Given the description of an element on the screen output the (x, y) to click on. 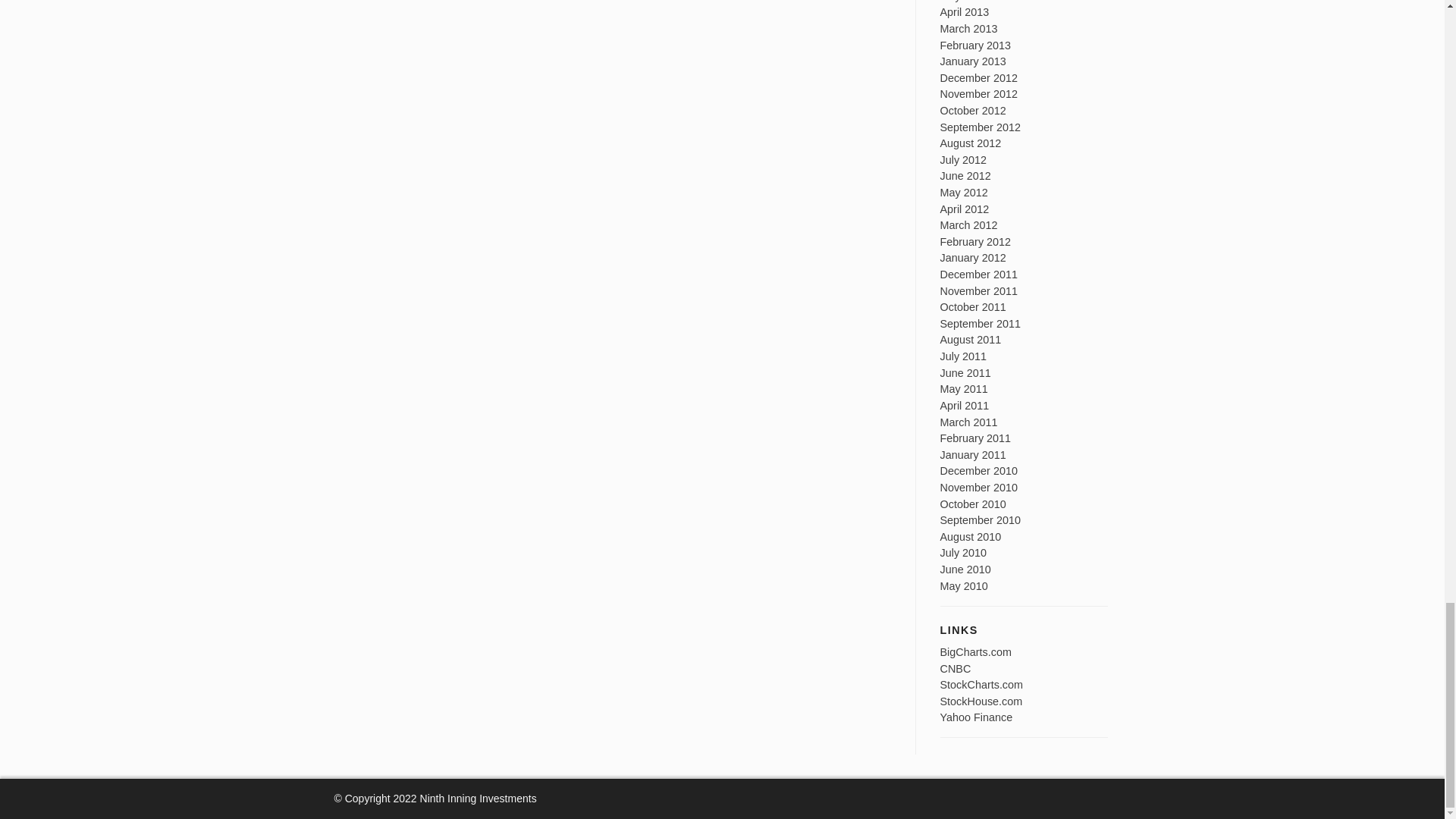
CNBC.com (955, 668)
BigCharts.com (975, 652)
Yahoo Finance (976, 717)
StockHouse.com (981, 701)
StockCharts.com (981, 684)
